Given the description of an element on the screen output the (x, y) to click on. 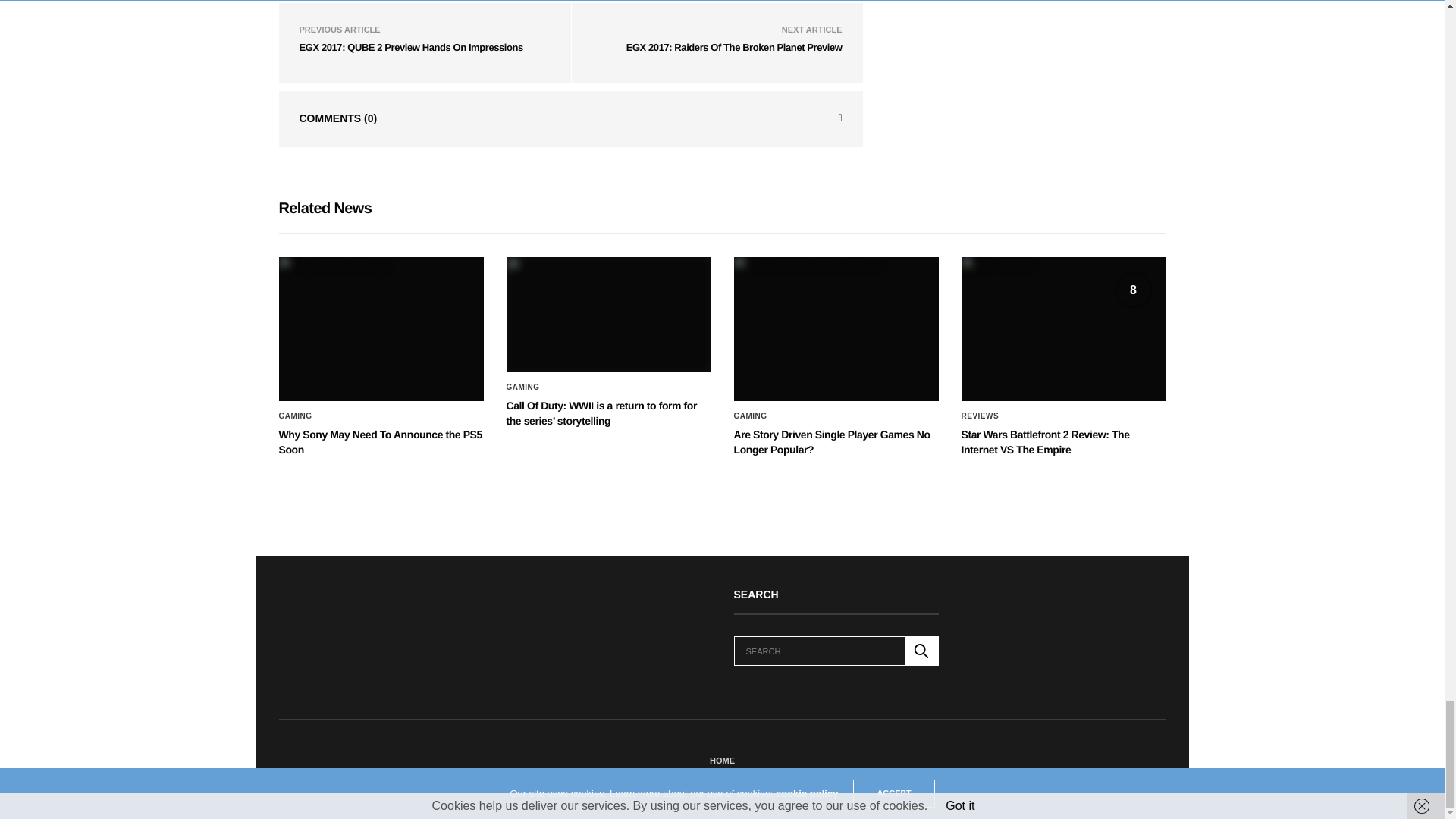
EGX 2017: Raiders Of The Broken Planet Preview (734, 47)
EGX 2017: QUBE 2 Preview Hands On Impressions (410, 47)
Search (922, 650)
Why Sony May Need To Announce the PS5 Soon (381, 329)
